Given the description of an element on the screen output the (x, y) to click on. 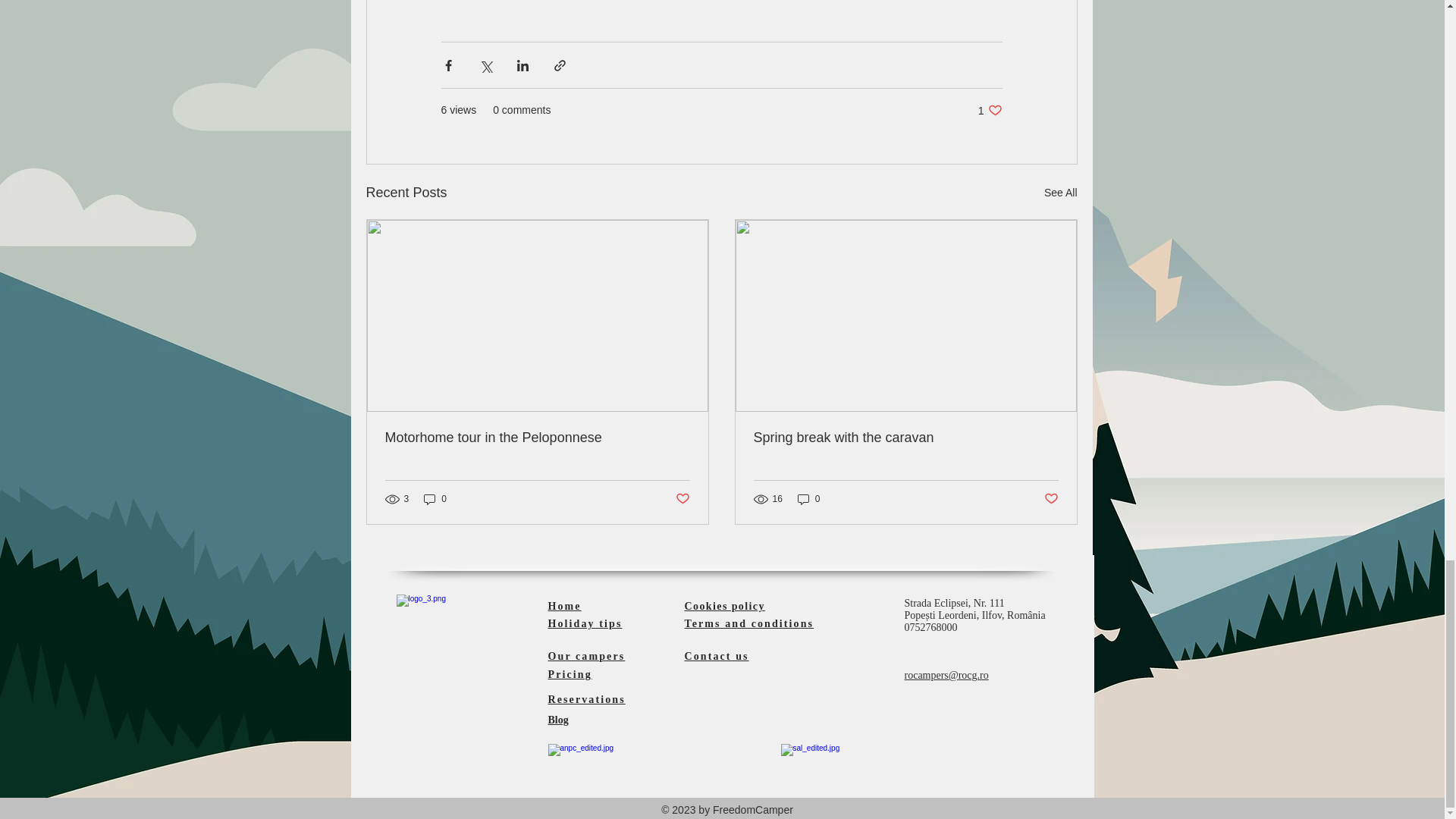
Spring break with the caravan (906, 437)
Contact us (716, 655)
See All (1060, 192)
Motorhome tour in the Peloponnese (537, 437)
0 (435, 499)
Terms and conditions (748, 623)
0 (809, 499)
Post not marked as liked (990, 110)
Holiday tips (681, 498)
Post not marked as liked (584, 623)
Cookies policy (1050, 498)
Home (724, 605)
